Given the description of an element on the screen output the (x, y) to click on. 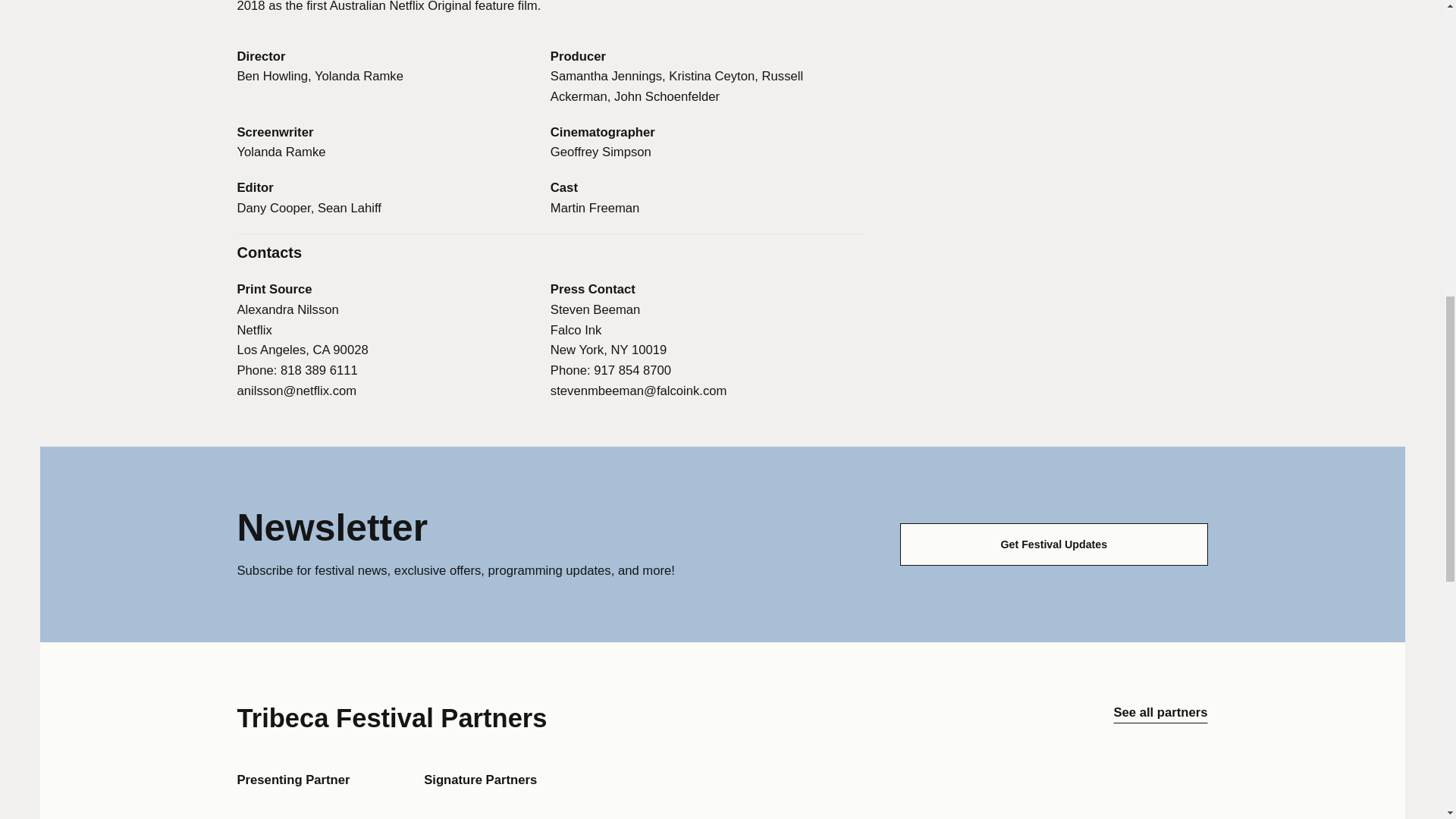
See all partners (1160, 717)
Get Festival Updates (1053, 544)
